Given the description of an element on the screen output the (x, y) to click on. 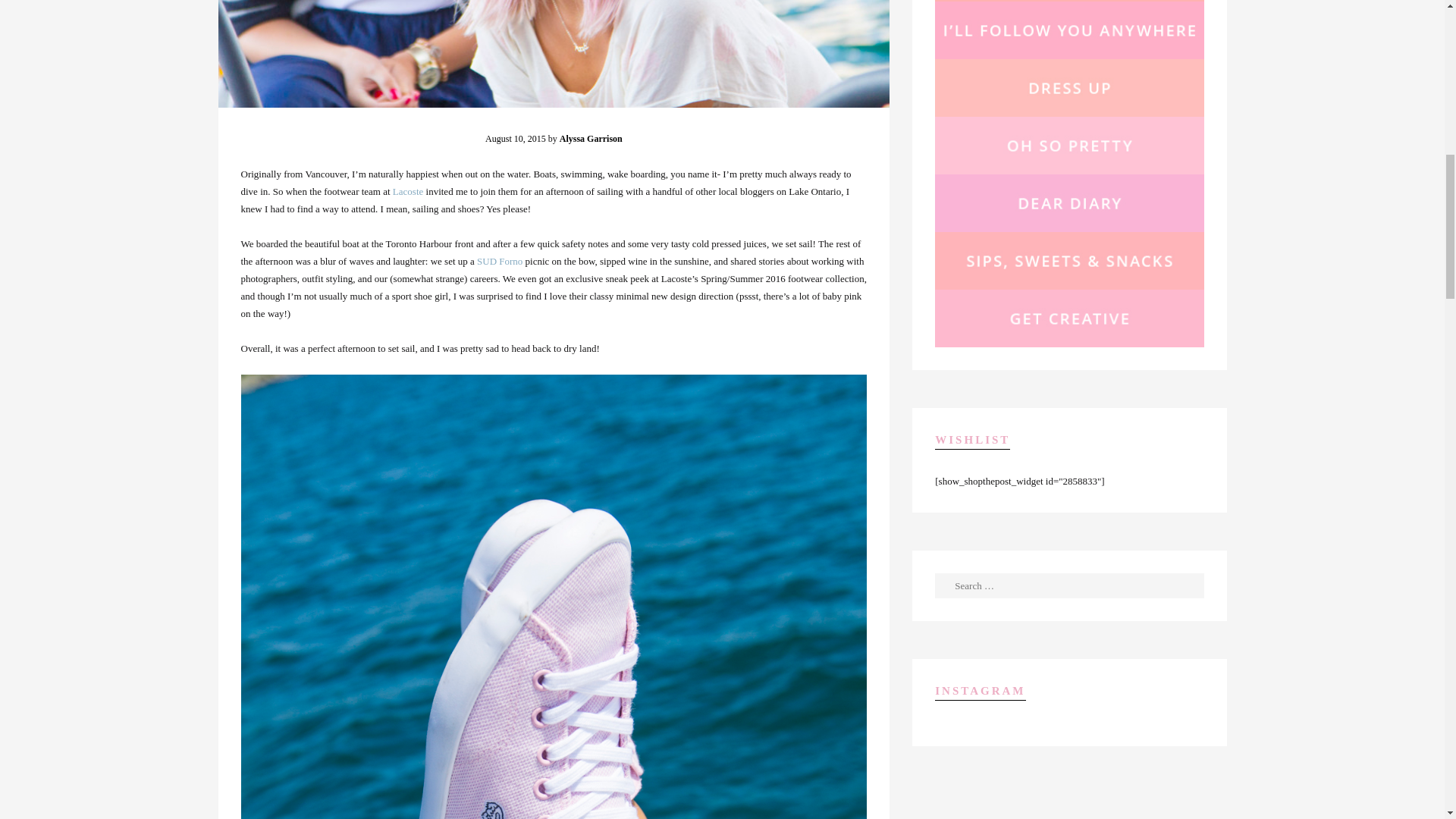
SUD Forno (499, 260)
Alyssa Garrison (591, 138)
Lacoste (408, 191)
August 10, 2015 (515, 138)
